Given the description of an element on the screen output the (x, y) to click on. 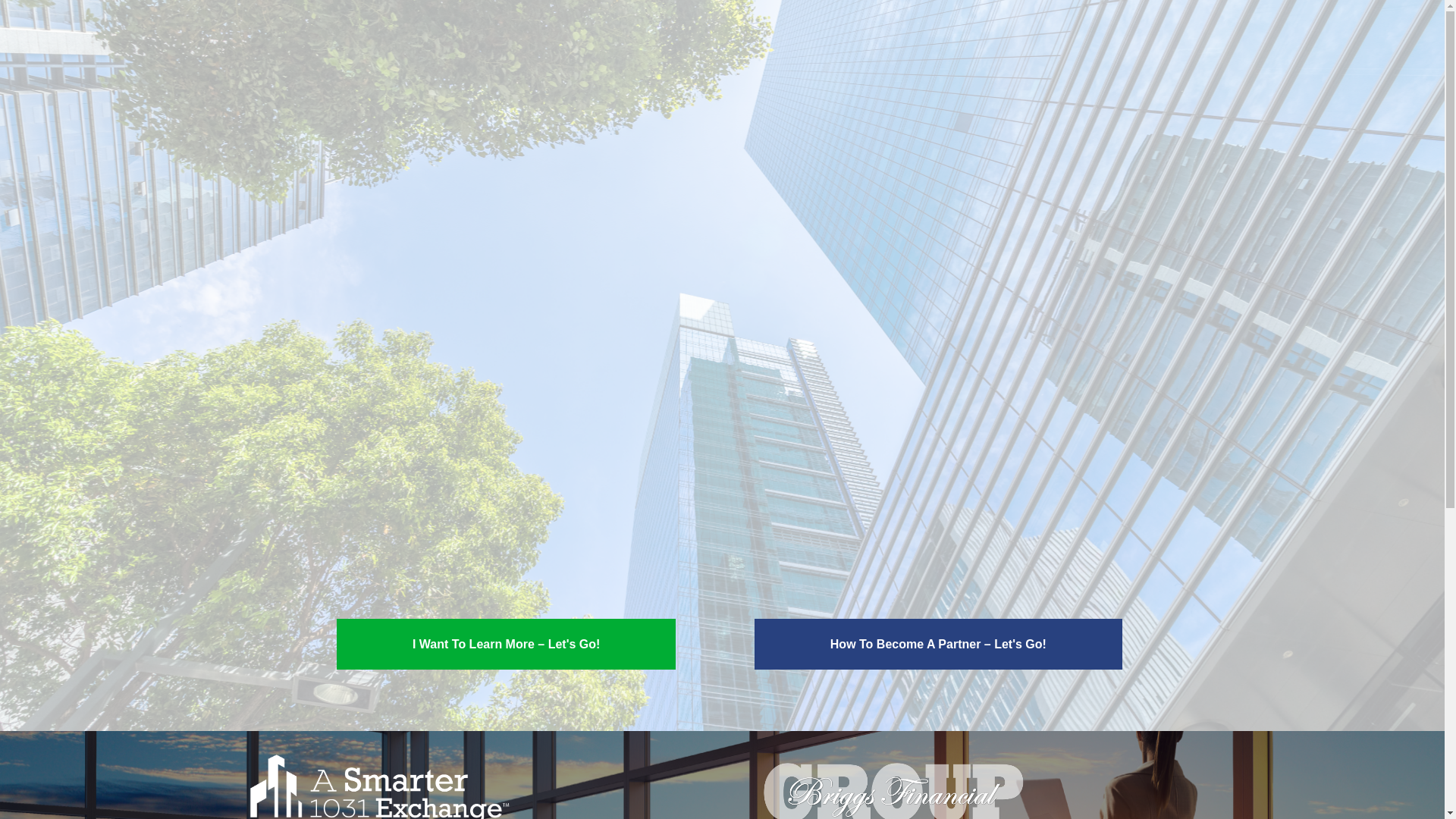
1031 Webinar Element type: hover (721, 325)
